Given the description of an element on the screen output the (x, y) to click on. 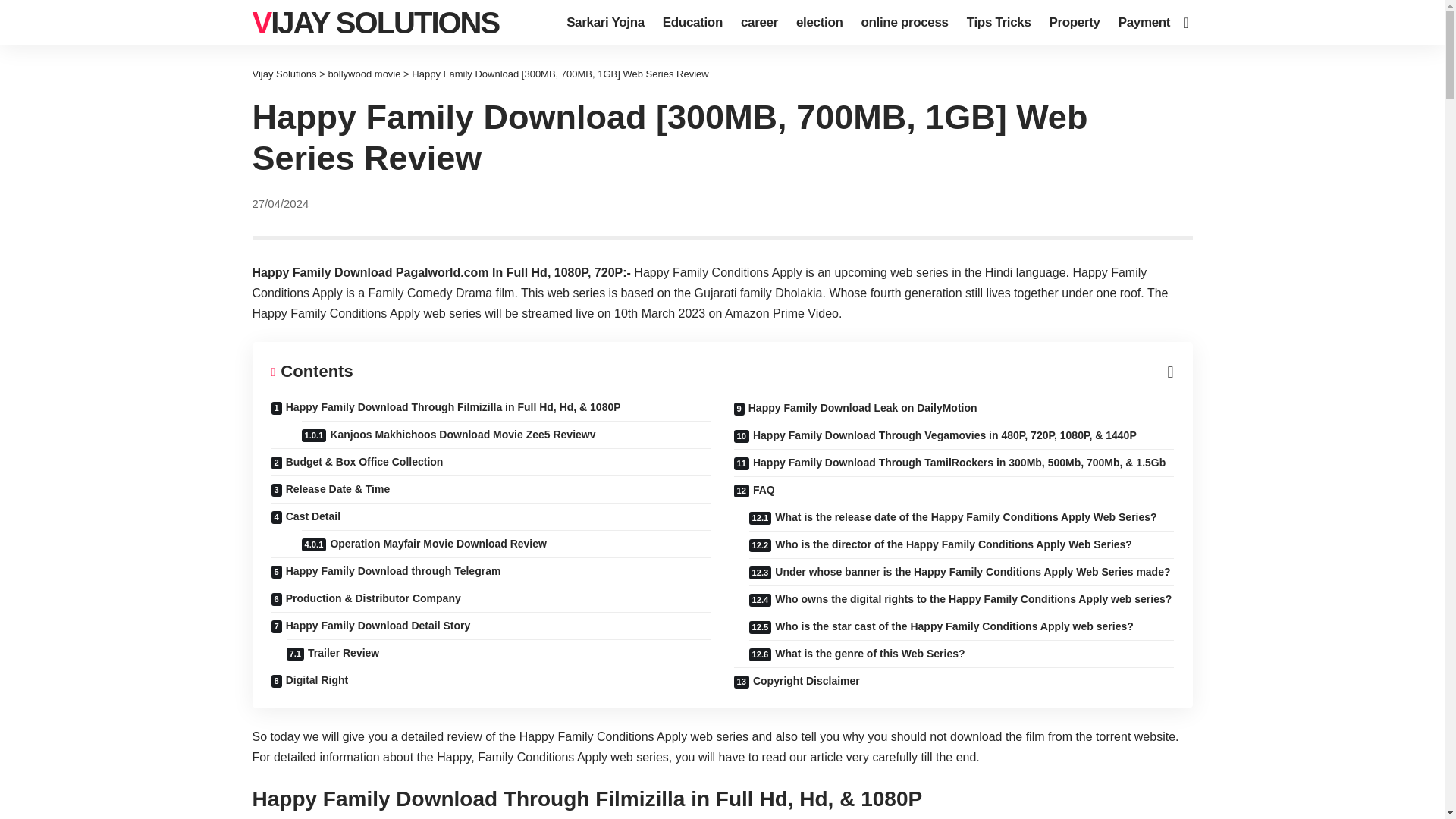
Education (692, 22)
Property (1075, 22)
election (819, 22)
Sarkari Yojna (605, 22)
Cast Detail (490, 515)
Go to the bollywood movie Category archives. (363, 73)
VIJAY SOLUTIONS (375, 22)
online process (903, 22)
Vijay Solutions (283, 73)
Go to Vijay Solutions. (283, 73)
Kanjoos Makhichoos Download Movie Zee5 Reviewv (506, 433)
Tips Tricks (999, 22)
bollywood movie (363, 73)
Vijay Solutions (375, 22)
career (759, 22)
